Given the description of an element on the screen output the (x, y) to click on. 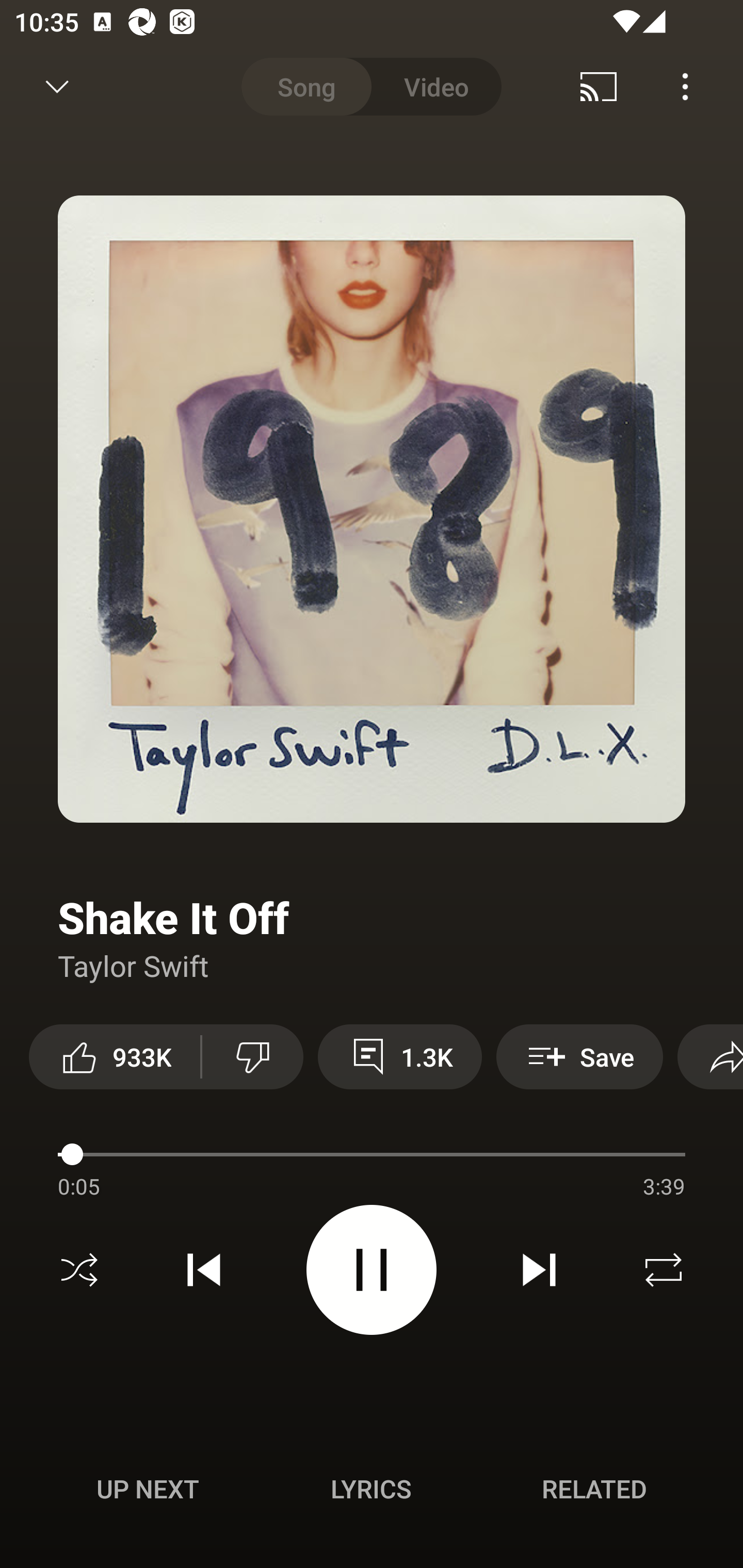
Minimize (57, 86)
Cast. Disconnected (598, 86)
Menu (684, 86)
Dislike (252, 1056)
1.3K View 1,326 comments (400, 1056)
Save Save to playlist (579, 1056)
Share (710, 1056)
Action menu (371, 1157)
Pause video (371, 1269)
Shuffle off (79, 1269)
Previous track (203, 1269)
Next track (538, 1269)
Repeat off (663, 1269)
Lyrics LYRICS (370, 1488)
Related RELATED (594, 1488)
